Given the description of an element on the screen output the (x, y) to click on. 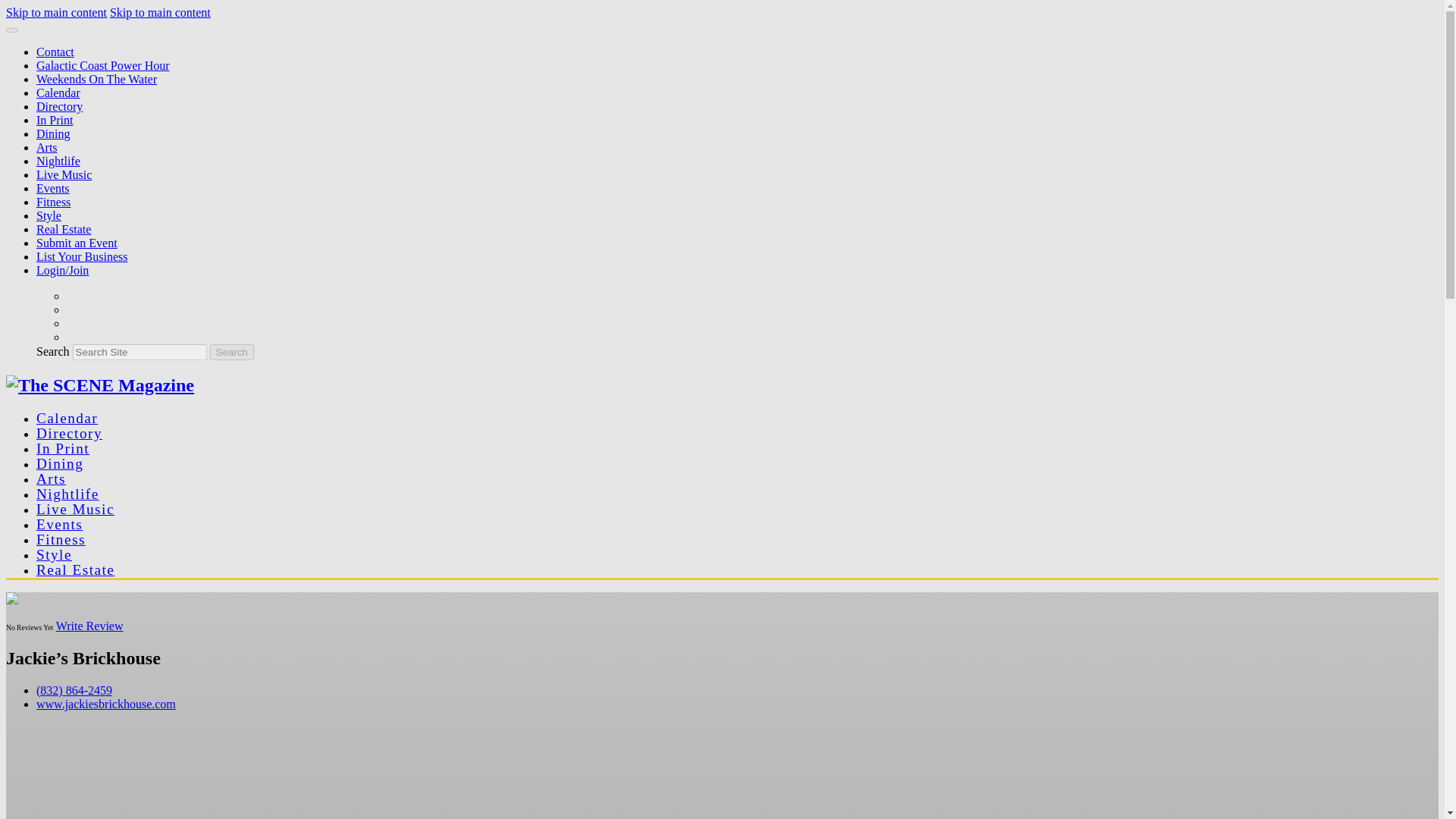
Nightlife (67, 494)
Live Music (75, 508)
Events (52, 187)
Arts (50, 478)
Style (48, 215)
Submit an Event (76, 242)
Directory (59, 106)
Dining (52, 133)
In Print (54, 119)
Calendar (58, 92)
Arts (47, 146)
Events (59, 524)
Contact (55, 51)
Fitness (60, 539)
Live Music (63, 174)
